Given the description of an element on the screen output the (x, y) to click on. 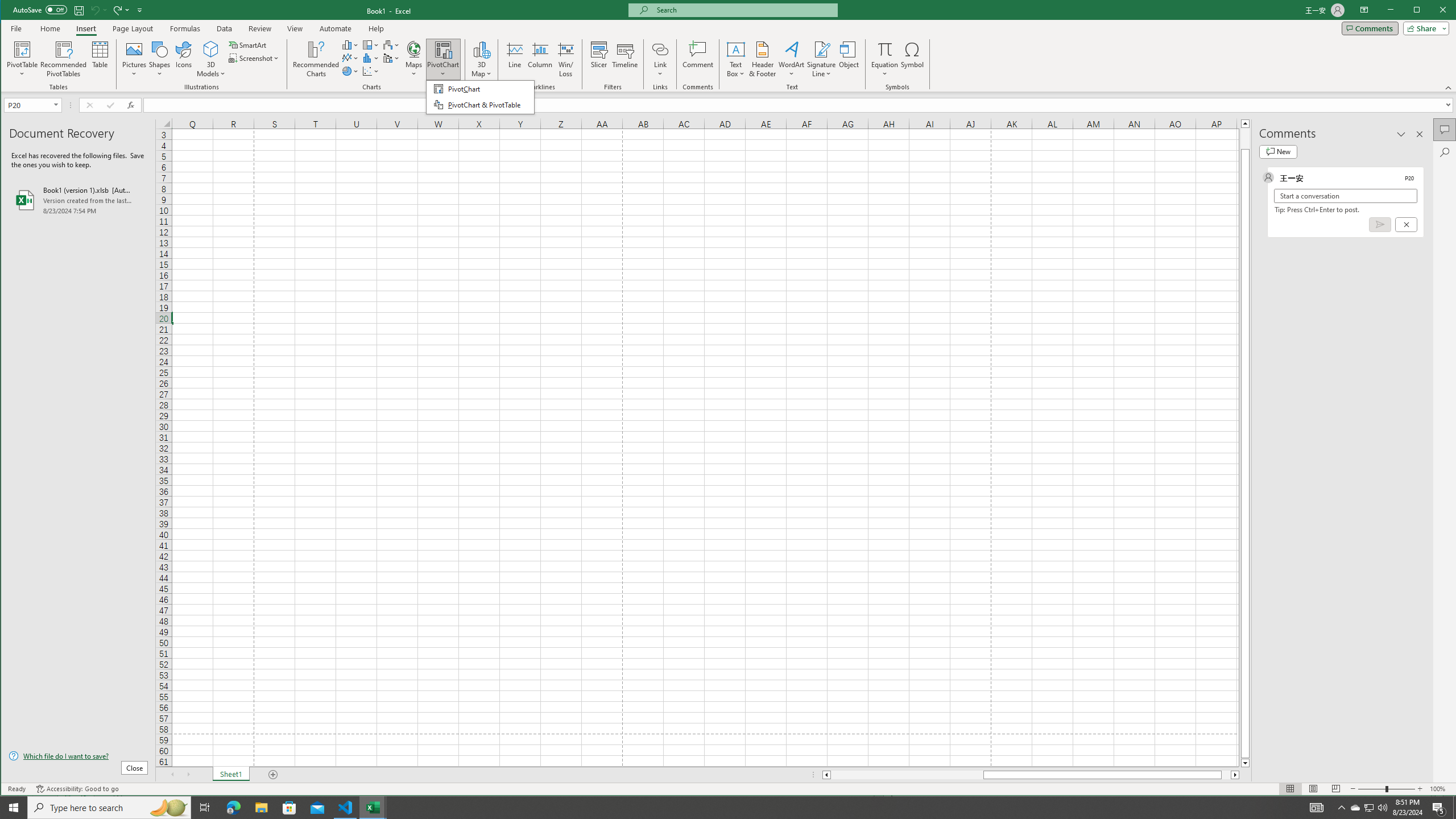
PivotTable (22, 48)
Signature Line (821, 48)
3D Map (481, 48)
Timeline (625, 59)
Pictures (134, 59)
Draw Horizontal Text Box (735, 48)
Maps (413, 59)
Text Box (735, 59)
